Given the description of an element on the screen output the (x, y) to click on. 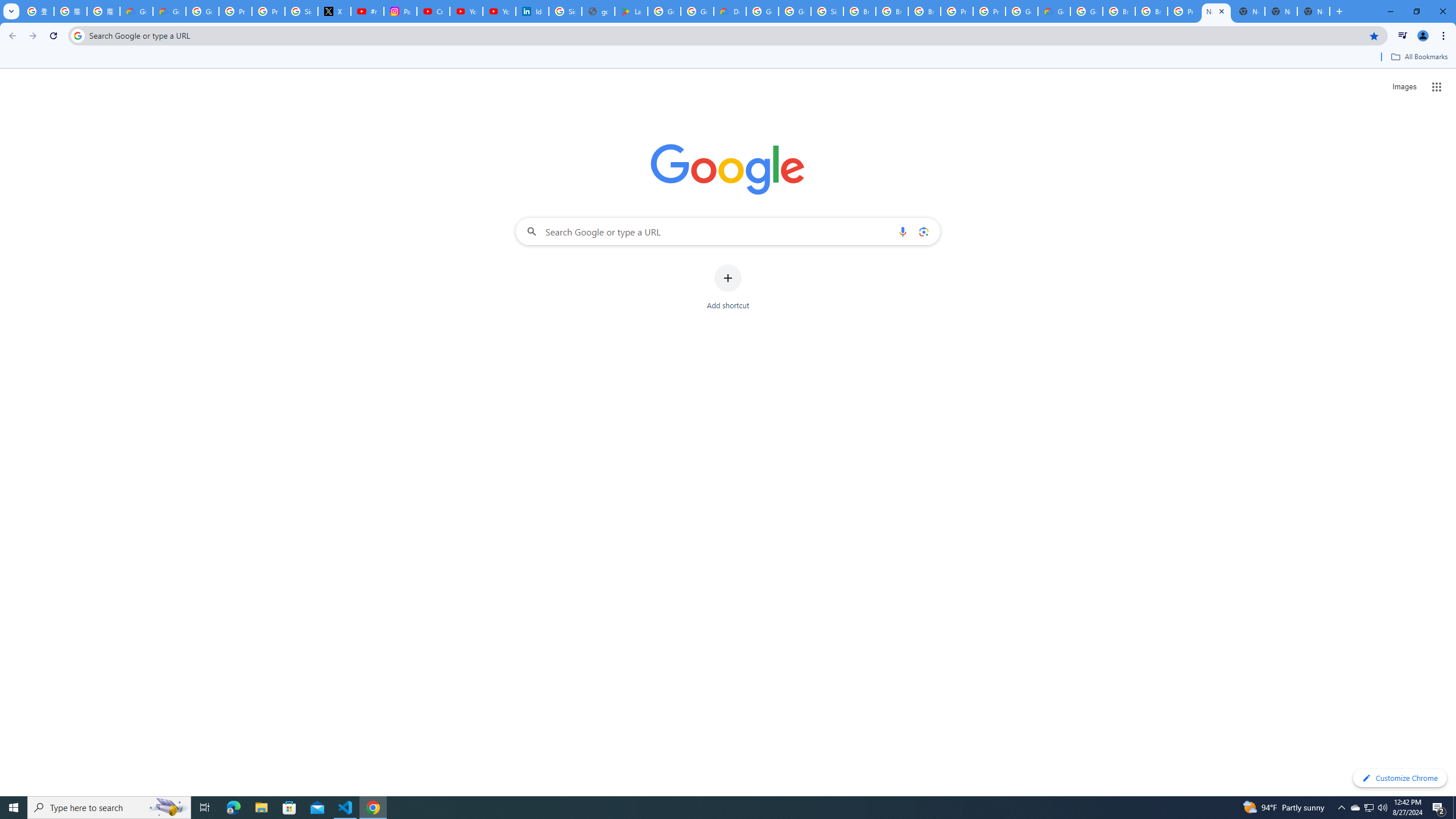
Privacy Help Center - Policies Help (268, 11)
Control your music, videos, and more (1402, 35)
Sign in - Google Accounts (301, 11)
Google Workspace - Specific Terms (697, 11)
Last Shelter: Survival - Apps on Google Play (631, 11)
Browse Chrome as a guest - Computer - Google Chrome Help (924, 11)
